Given the description of an element on the screen output the (x, y) to click on. 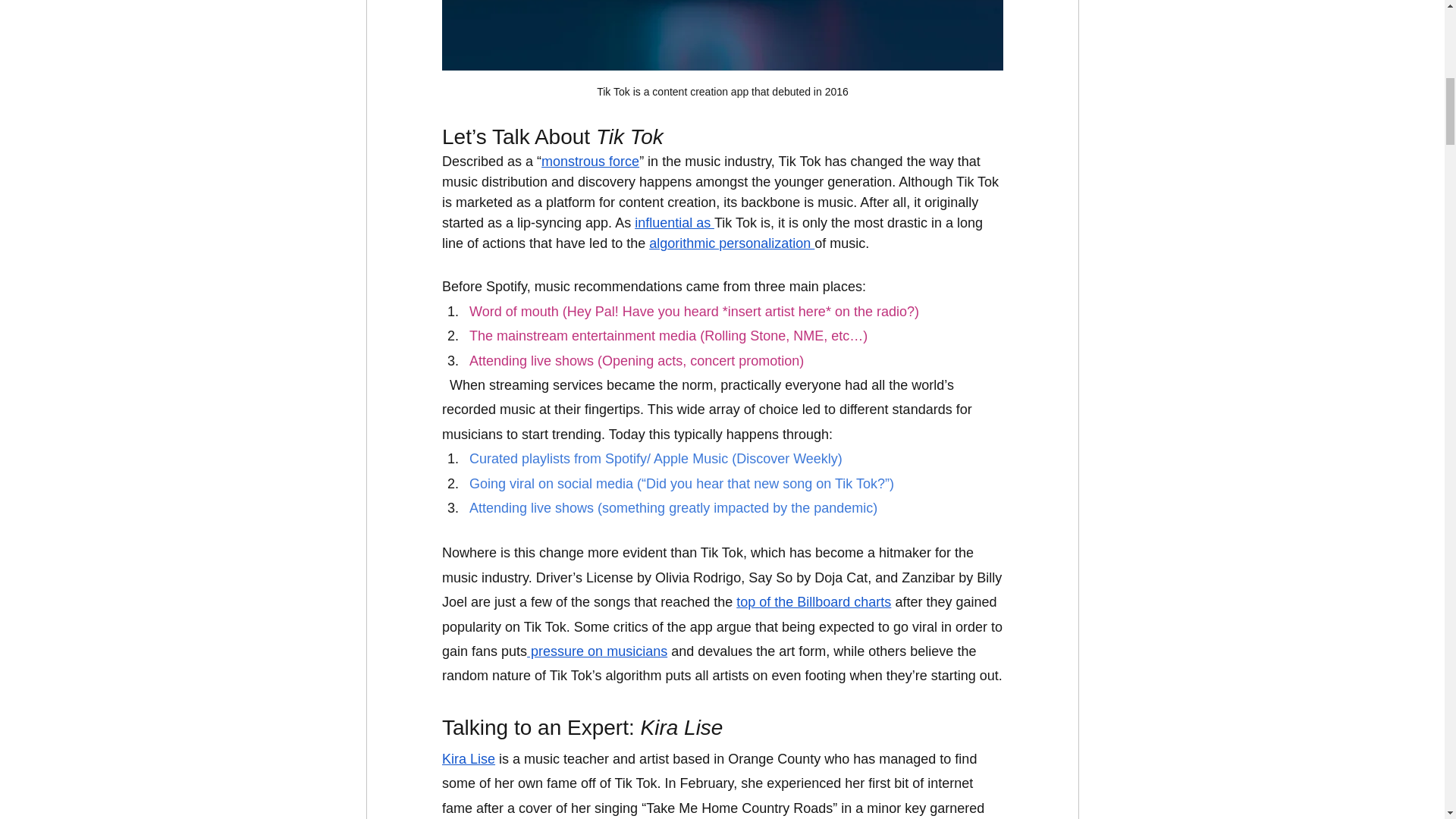
influential as  (674, 223)
top of the Billboard charts (813, 601)
monstrous force (590, 161)
 pressure on musicians (596, 651)
Kira Lise (468, 758)
algorithmic personalization  (731, 243)
